Given the description of an element on the screen output the (x, y) to click on. 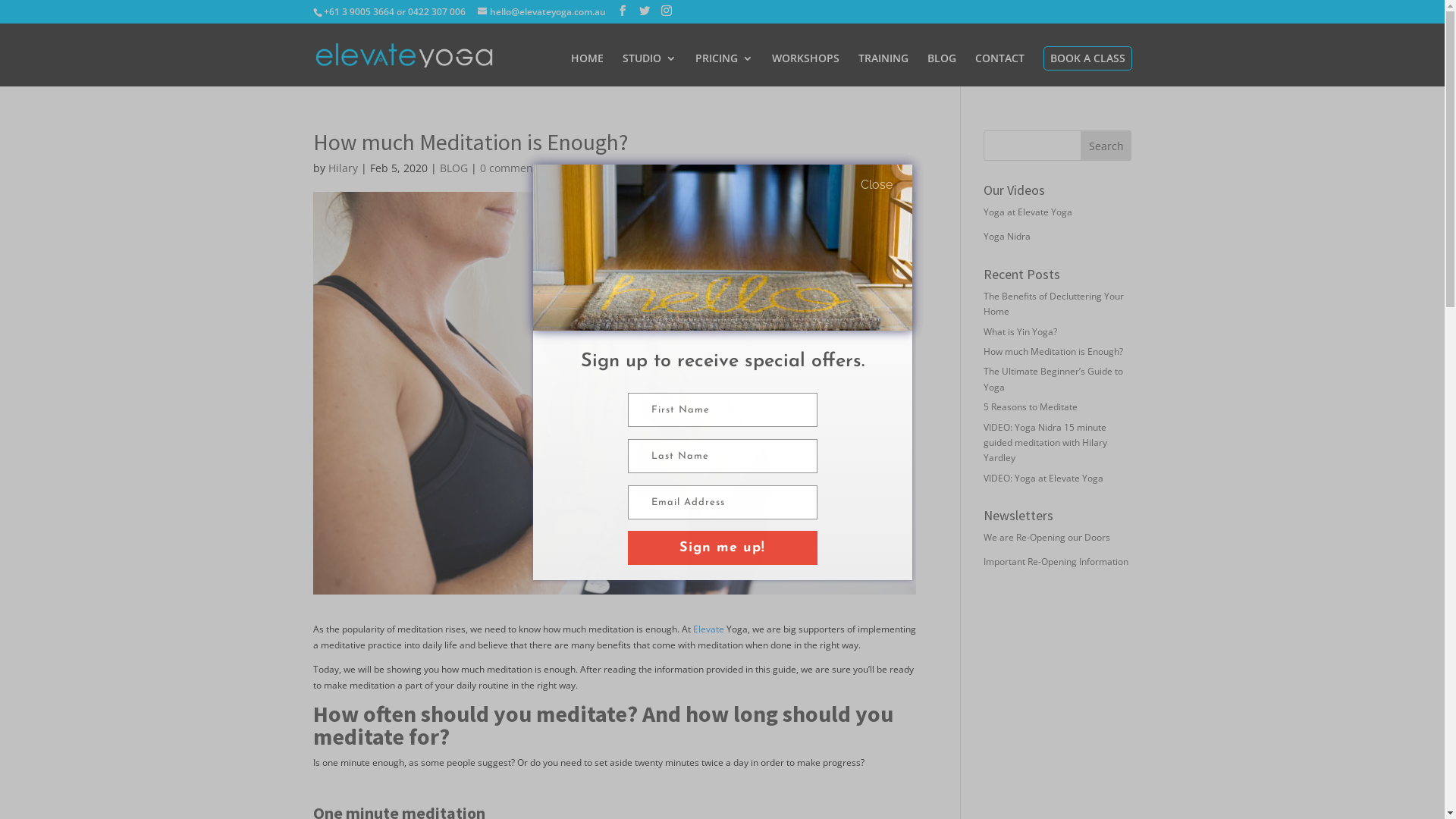
The Benefits of Decluttering Your Home Element type: text (1053, 303)
How much Meditation is Enough? Element type: text (1053, 351)
Elevate Element type: text (708, 628)
Important Re-Opening Information Element type: text (1055, 561)
WORKSHOPS Element type: text (805, 69)
We are Re-Opening our Doors Element type: text (1046, 536)
BOOK A CLASS Element type: text (1087, 58)
Search Element type: text (1106, 145)
STUDIO Element type: text (648, 69)
BLOG Element type: text (940, 69)
PRICING Element type: text (723, 69)
HOME Element type: text (586, 69)
Yoga at Elevate Yoga Element type: text (1027, 211)
Yoga Nidra Element type: text (1006, 235)
5 Reasons to Meditate Element type: text (1030, 406)
hello@elevateyoga.com.au Element type: text (541, 11)
0 comments Element type: text (510, 167)
What is Yin Yoga? Element type: text (1020, 331)
TRAINING Element type: text (883, 69)
0422 307 006 Element type: text (436, 11)
BLOG Element type: text (453, 167)
+61 3 9005 3664 Element type: text (358, 11)
Sign me up! Element type: text (722, 547)
CONTACT Element type: text (999, 69)
VIDEO: Yoga at Elevate Yoga Element type: text (1043, 477)
Hilary Element type: text (342, 167)
